Given the description of an element on the screen output the (x, y) to click on. 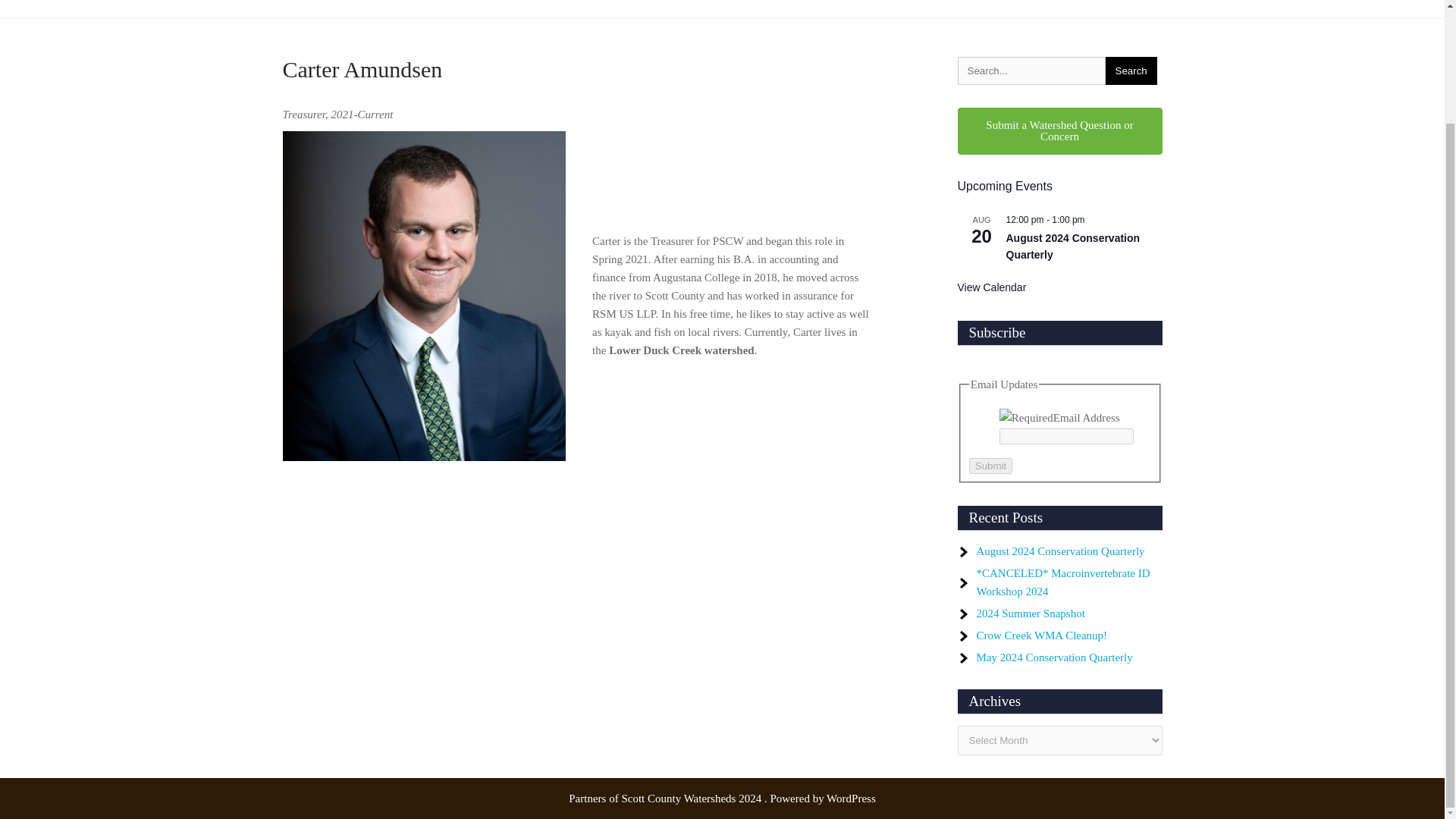
Search (1131, 70)
Submit (990, 465)
ABOUT (362, 9)
TECHNICAL GUIDANCE (539, 9)
VOLUNTEERING (659, 9)
View more events. (991, 287)
HOME (308, 9)
LEARN MORE (754, 9)
August 2024 Conservation Quarterly (1073, 246)
Search (1131, 70)
EDUCATION (431, 9)
